Given the description of an element on the screen output the (x, y) to click on. 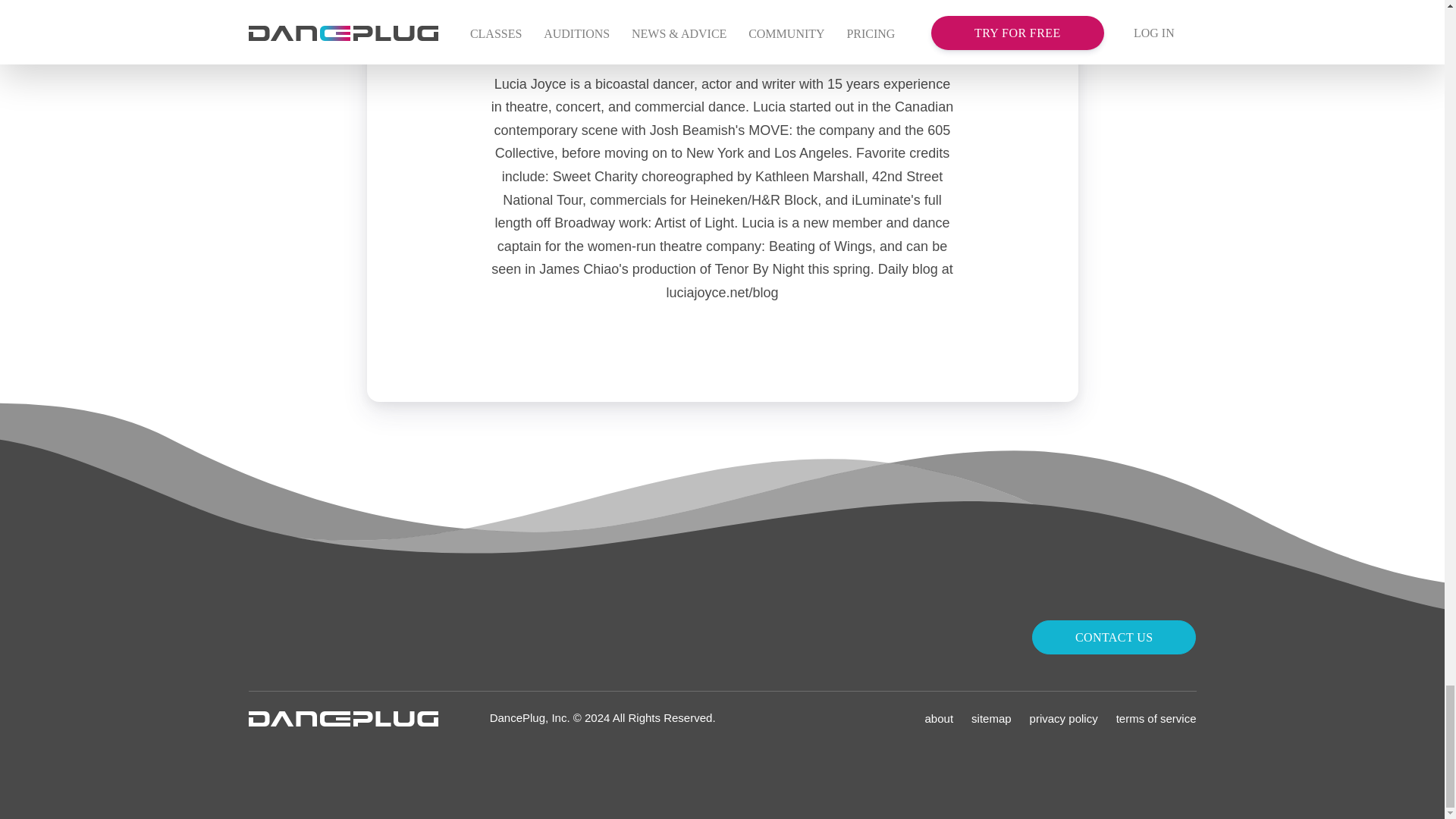
Join us on LinkedIn (381, 635)
Follow me on Instagram (690, 20)
Follow us on Twitter (290, 635)
Subscribe to our Youtube Channel (320, 635)
Like me on Facebook (753, 20)
Subscribe to my Youtube Channel (722, 20)
Like us on Facebook (351, 635)
Follow us on Instagram (260, 635)
